Given the description of an element on the screen output the (x, y) to click on. 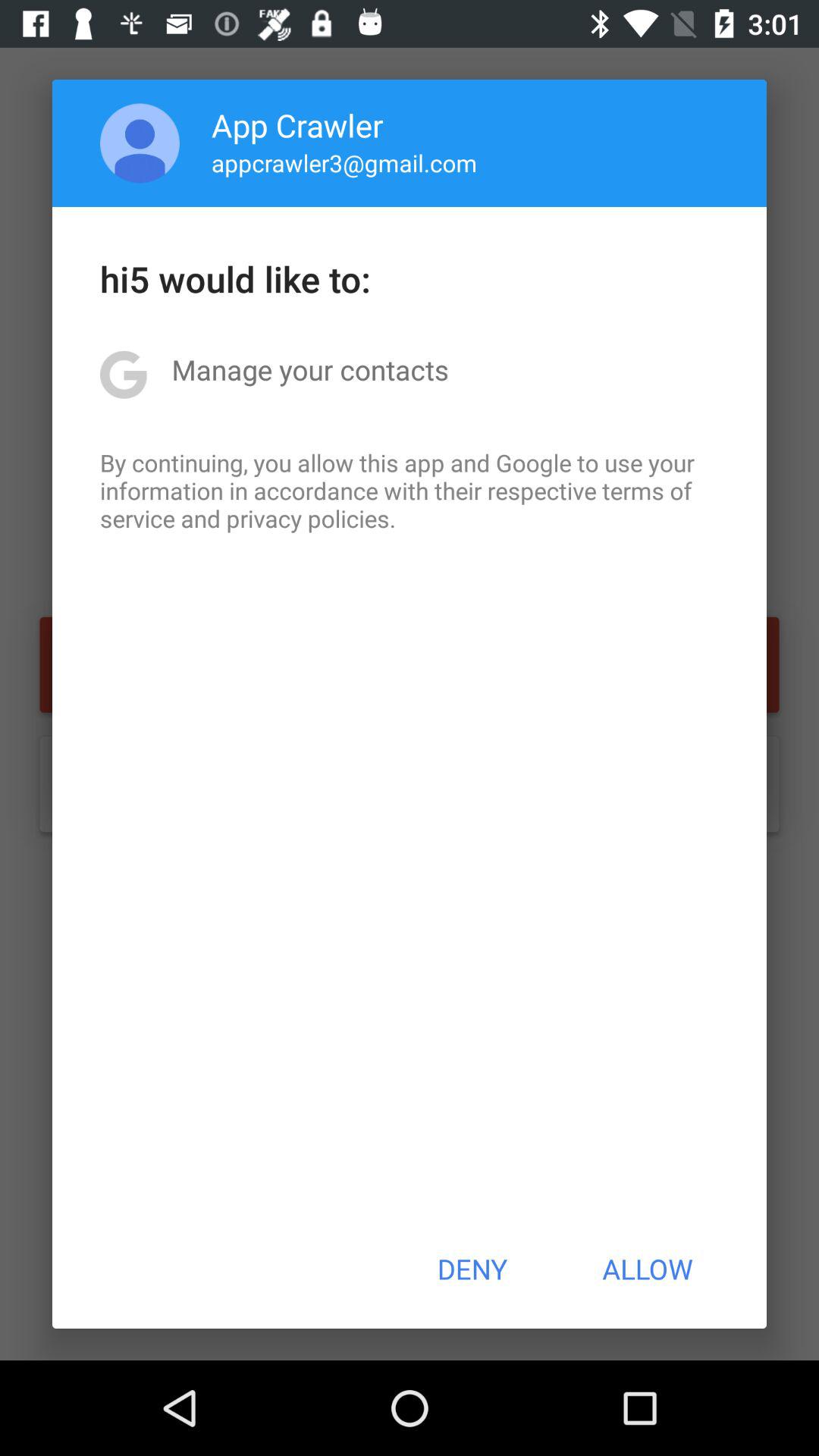
press the icon at the bottom (471, 1268)
